Given the description of an element on the screen output the (x, y) to click on. 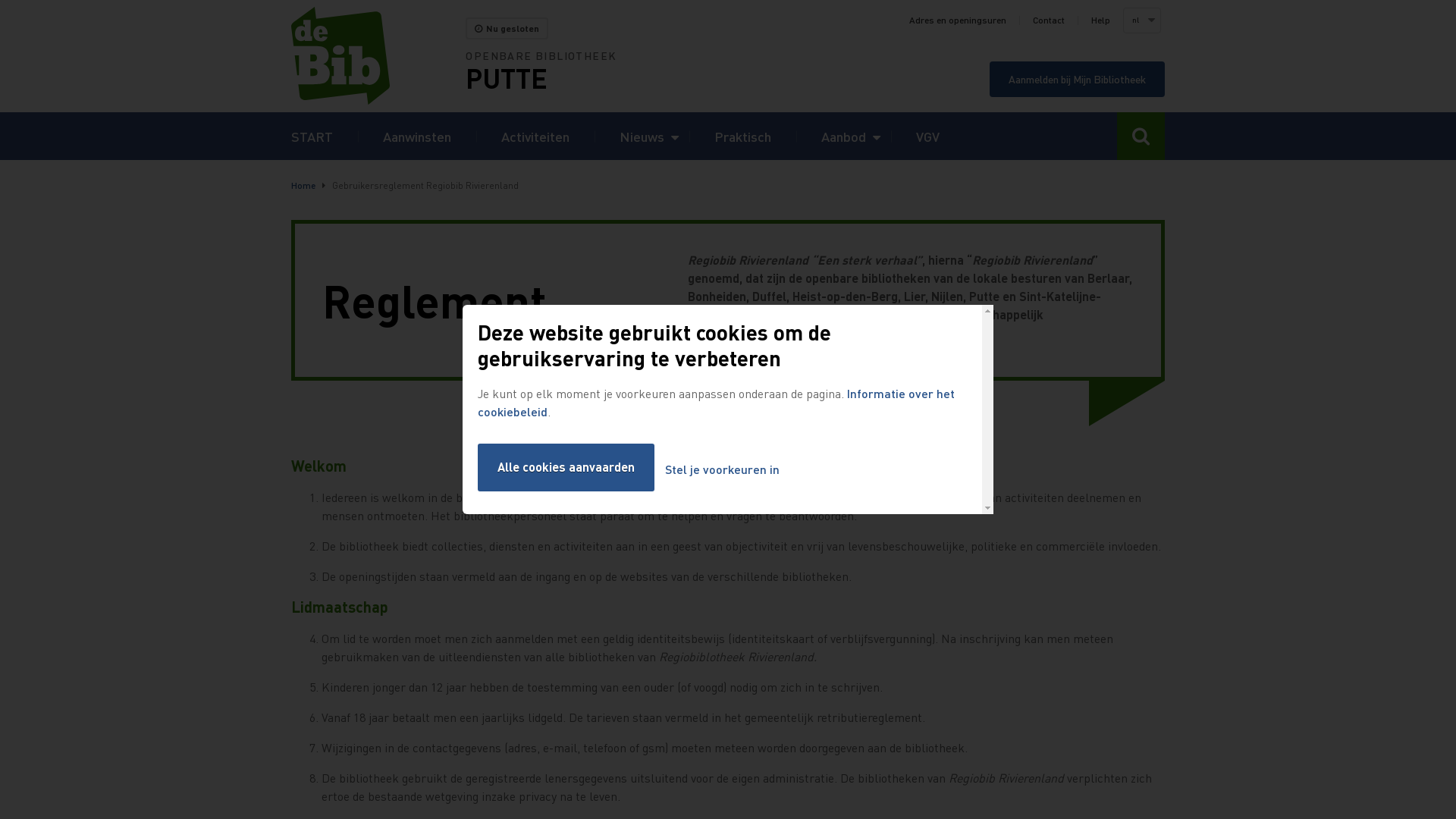
START Element type: text (311, 136)
Praktisch Element type: text (742, 136)
Help Element type: text (1100, 20)
Stel je voorkeuren in Element type: text (722, 469)
Aanwinsten Element type: text (416, 136)
Adres en openingsuren Element type: text (957, 20)
Home Element type: text (303, 185)
Alle cookies aanvaarden Element type: text (565, 466)
Overslaan en naar zoeken gaan Element type: text (0, 0)
Contact Element type: text (1048, 20)
VGV Element type: text (927, 136)
Informatie over het cookiebeleid Element type: text (715, 402)
Toggle search Element type: hover (1140, 136)
Aanmelden bij Mijn Bibliotheek Element type: text (1076, 79)
Nu gesloten Element type: text (506, 28)
Activiteiten Element type: text (535, 136)
nl Element type: text (1140, 20)
Home Element type: hover (378, 55)
